Given the description of an element on the screen output the (x, y) to click on. 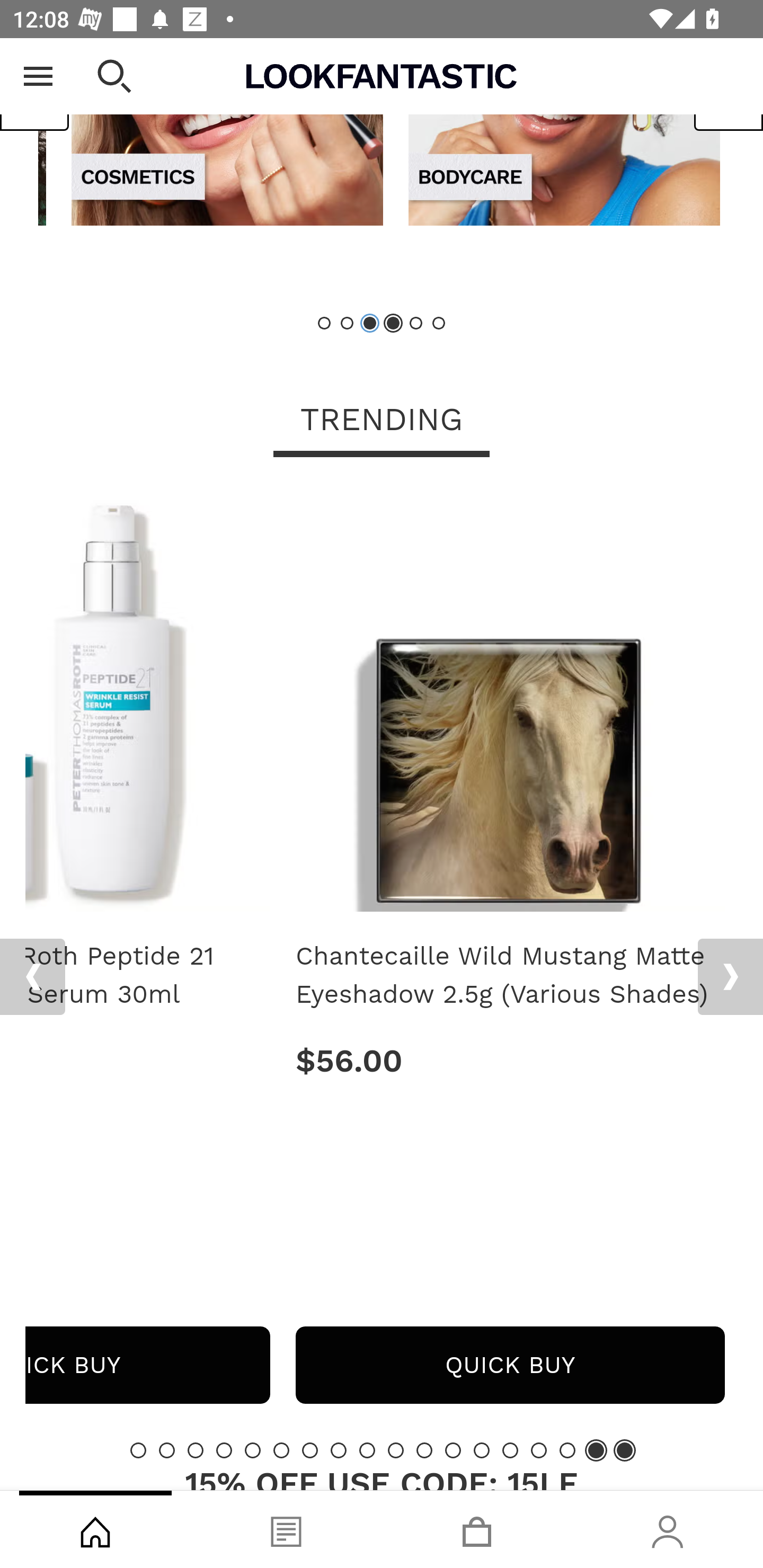
Previous (35, 90)
Slide 1 (324, 323)
Slide 2 (347, 323)
Showing Slide 3 (Current Item) (369, 323)
Showing Slide 4 (Current Item) (393, 323)
Slide 5 (415, 323)
Slide 6 (437, 323)
TRENDING (381, 420)
Previous (32, 976)
Next (730, 976)
Price: $56.00 (510, 1060)
Slide 1 (138, 1449)
Slide 2 (166, 1449)
Slide 3 (195, 1449)
Slide 4 (223, 1449)
Slide 5 (252, 1449)
Slide 6 (281, 1449)
Slide 7 (310, 1449)
Slide 8 (338, 1449)
Slide 9 (367, 1449)
Slide 10 (395, 1449)
Slide 11 (424, 1449)
Slide 12 (452, 1449)
Slide 13 (481, 1449)
Slide 14 (510, 1449)
Slide 15 (539, 1449)
Slide 16 (567, 1449)
Showing Slide 17 (Current Item) (596, 1449)
Showing Slide 18 (Current Item) (624, 1449)
Shop, tab, 1 of 4 (95, 1529)
Blog, tab, 2 of 4 (285, 1529)
Basket, tab, 3 of 4 (476, 1529)
Account, tab, 4 of 4 (667, 1529)
